Given the description of an element on the screen output the (x, y) to click on. 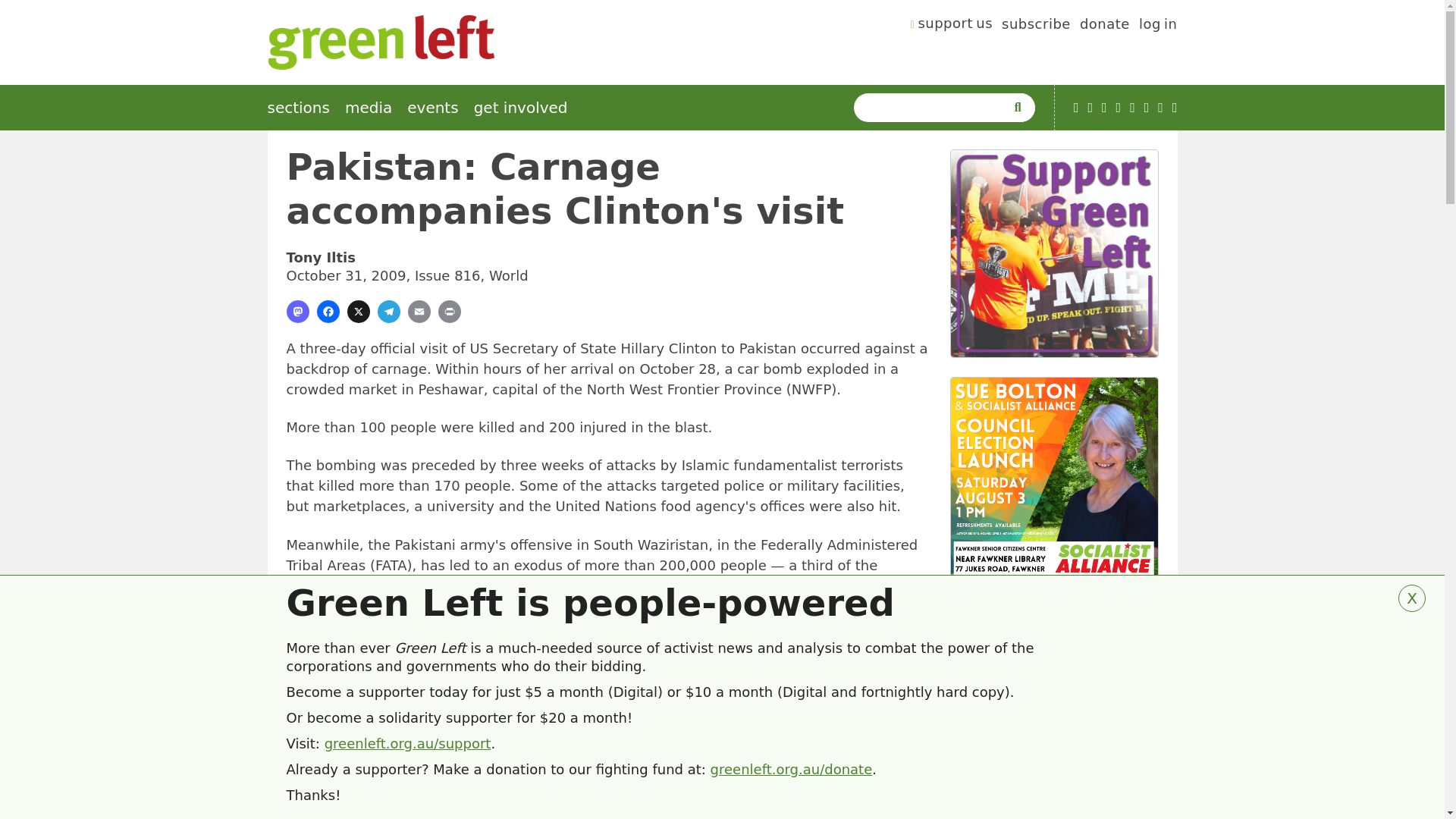
share via email (418, 311)
Share on Telegram (388, 311)
events (432, 107)
log in (1157, 26)
TikTok (1118, 107)
Print (449, 311)
Facebook (1104, 107)
Share on Mastondon (297, 311)
support us (951, 26)
subscribe (1035, 26)
Share on X (358, 311)
Podcast (1090, 107)
Share on Facebook (328, 311)
donate (1104, 26)
YouTube (1076, 107)
